Given the description of an element on the screen output the (x, y) to click on. 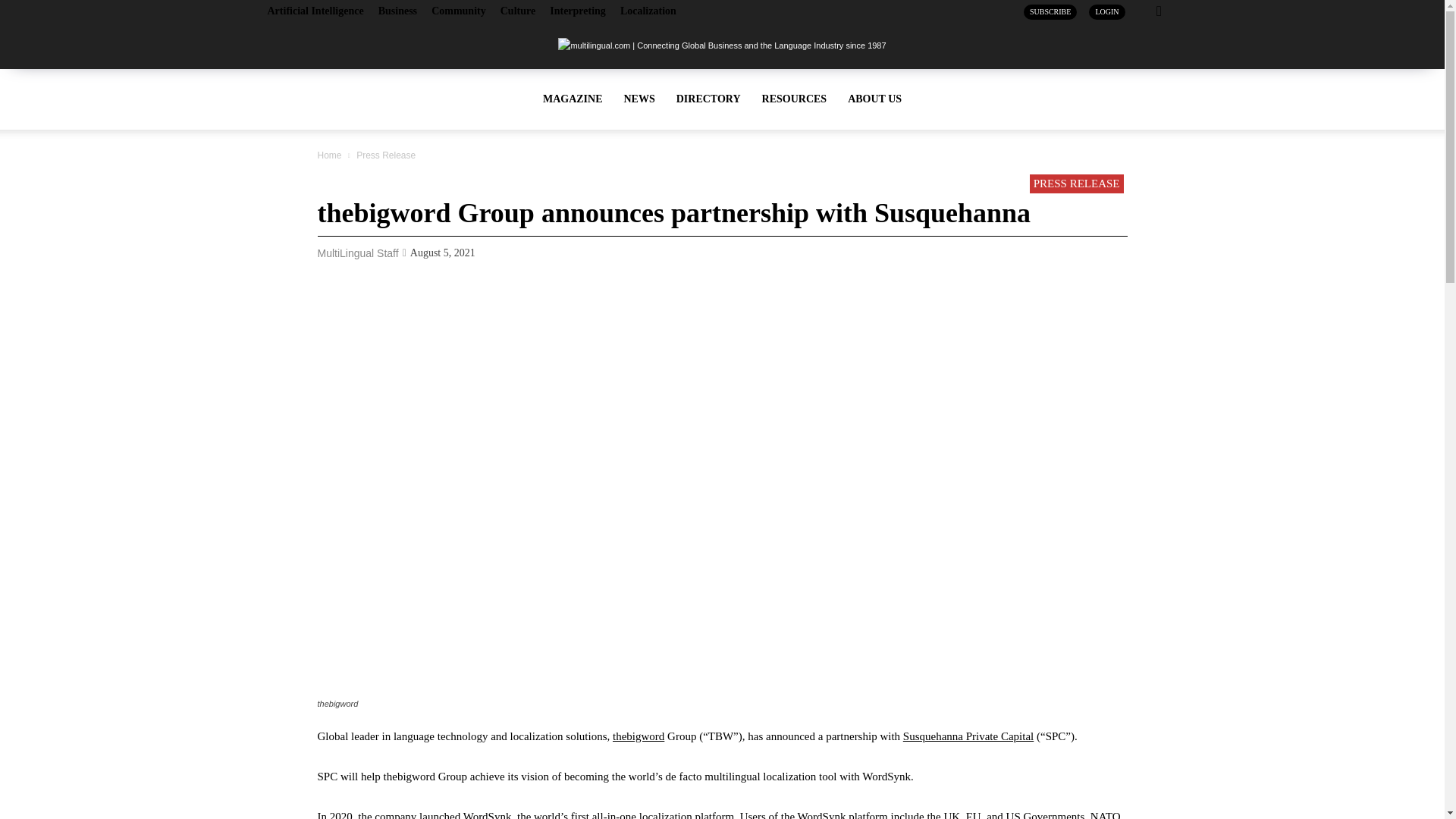
Community (458, 10)
Artificial Intelligence (314, 10)
View all posts in Press Release (385, 154)
Business (397, 10)
